Given the description of an element on the screen output the (x, y) to click on. 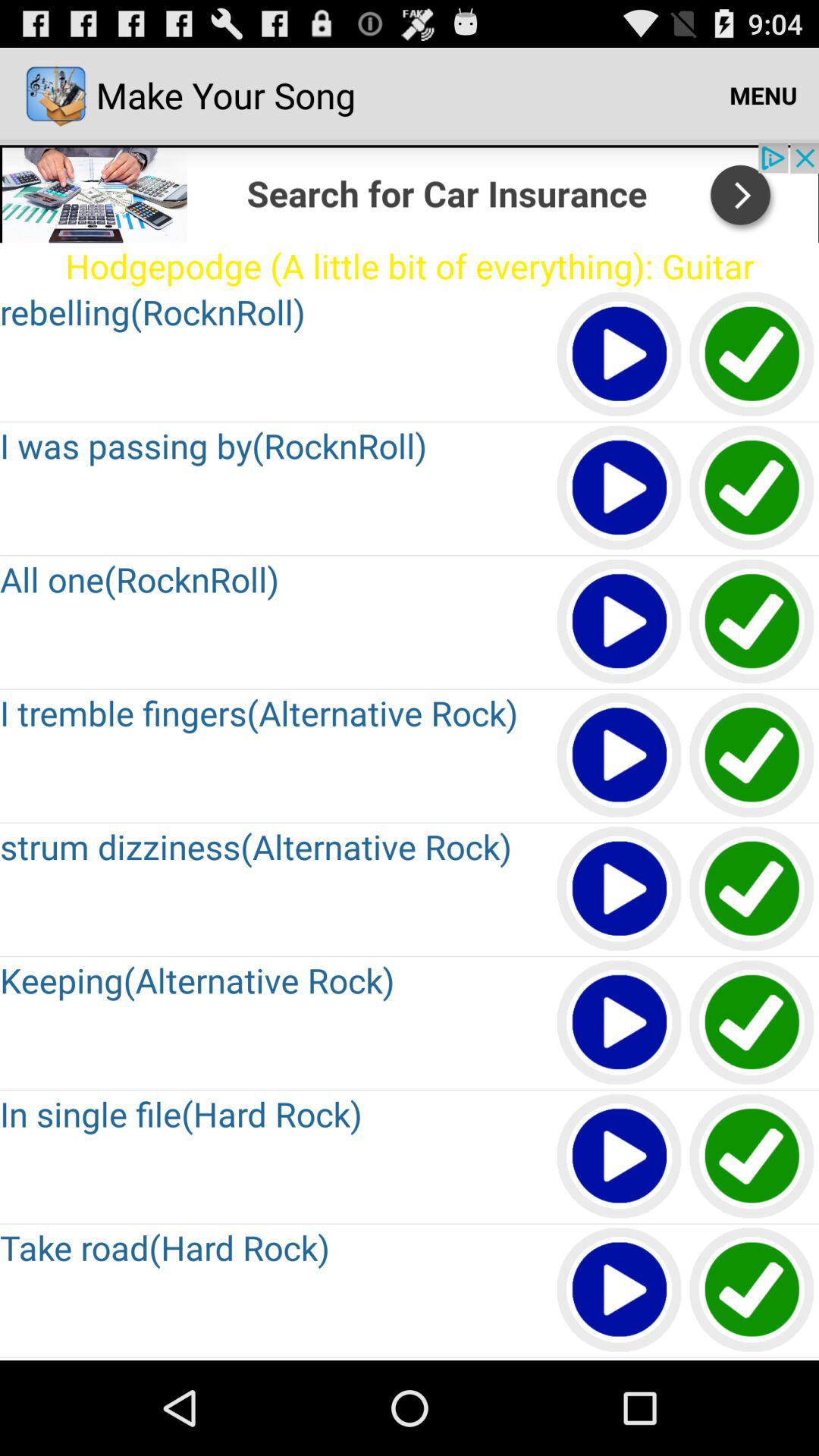
select song (752, 1359)
